Given the description of an element on the screen output the (x, y) to click on. 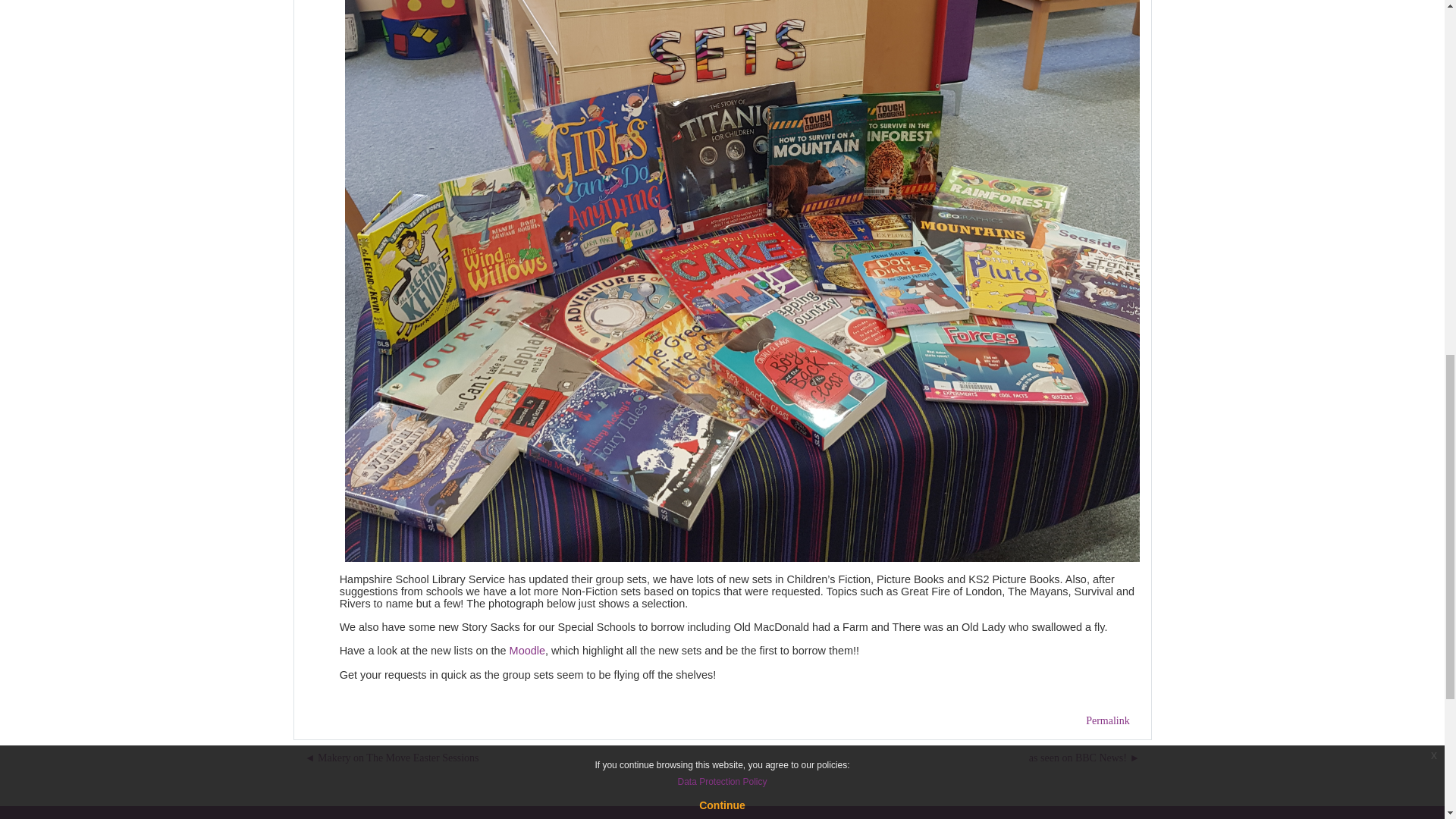
Permalink (1107, 720)
Permanent link to this post (1107, 720)
Moodle (526, 650)
